Given the description of an element on the screen output the (x, y) to click on. 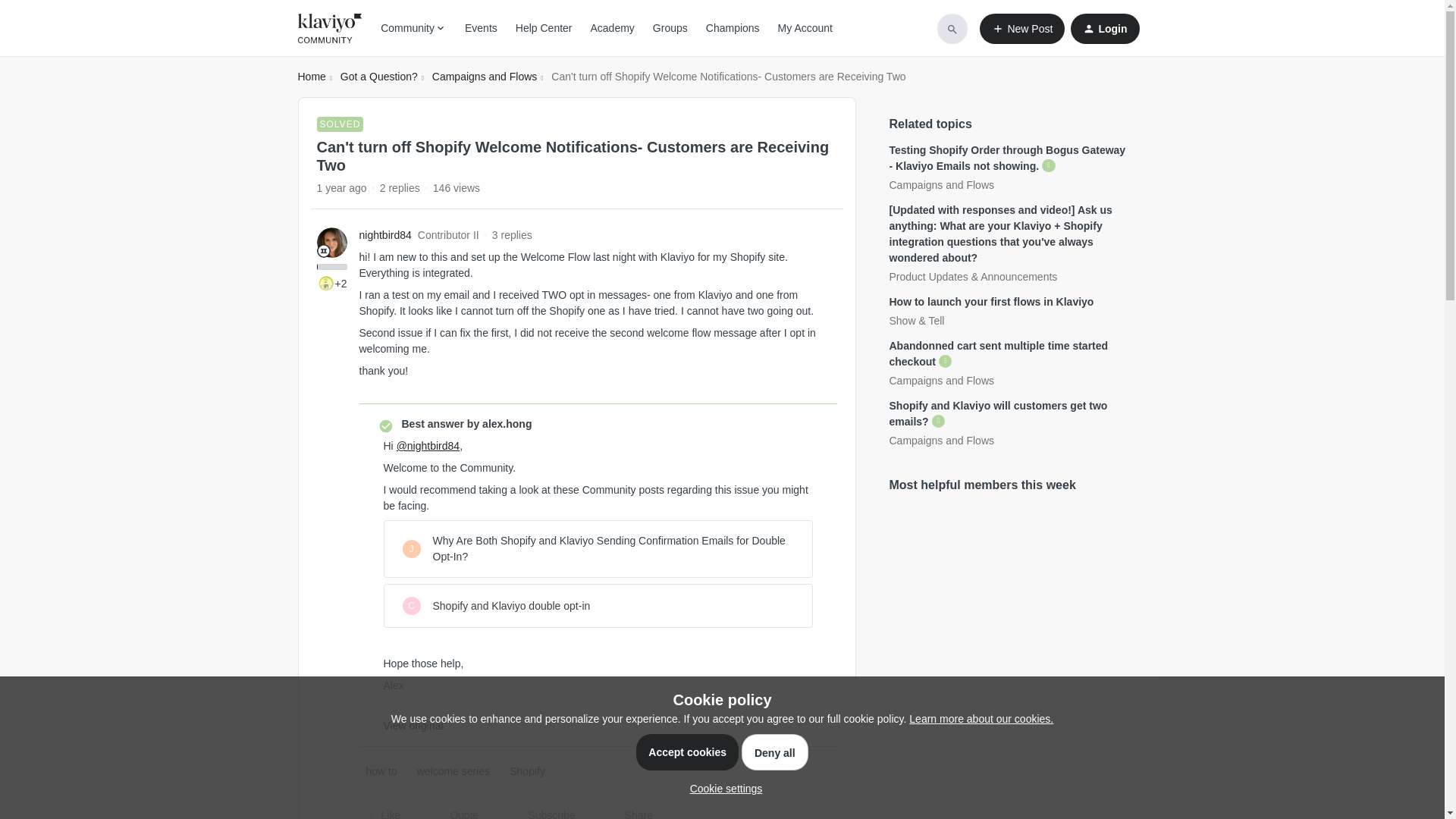
Community (413, 28)
Home (310, 76)
Groups (669, 28)
New Post (1021, 28)
Events (480, 28)
My Account (804, 28)
Help Center (543, 28)
Champions (733, 28)
Got a Question? (378, 76)
Login (1104, 28)
